Given the description of an element on the screen output the (x, y) to click on. 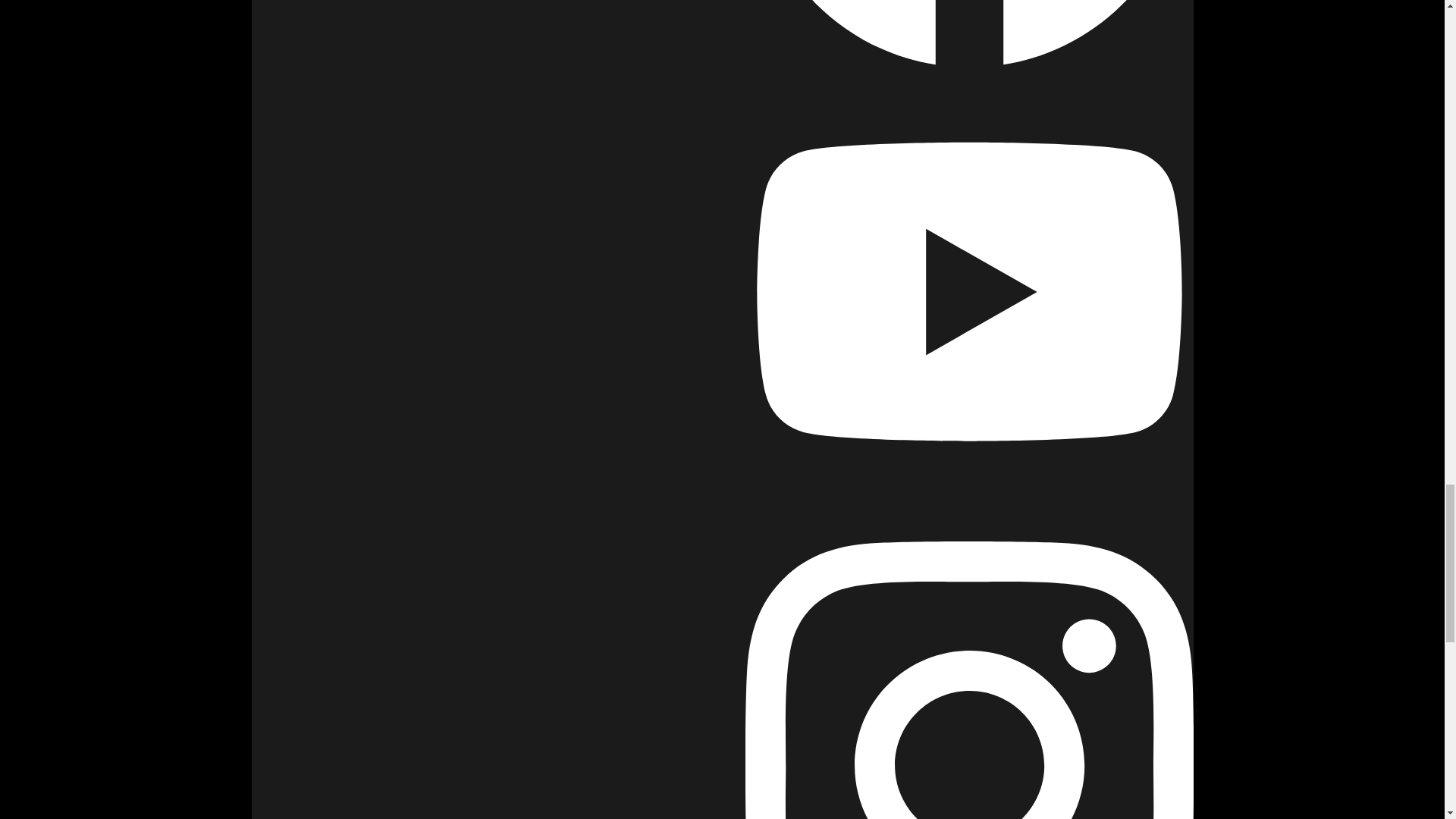
Food Darzee Facebook Page (968, 44)
Food Darzee Instagram Page (968, 788)
Food Darzee YouTube Page (968, 395)
